Given the description of an element on the screen output the (x, y) to click on. 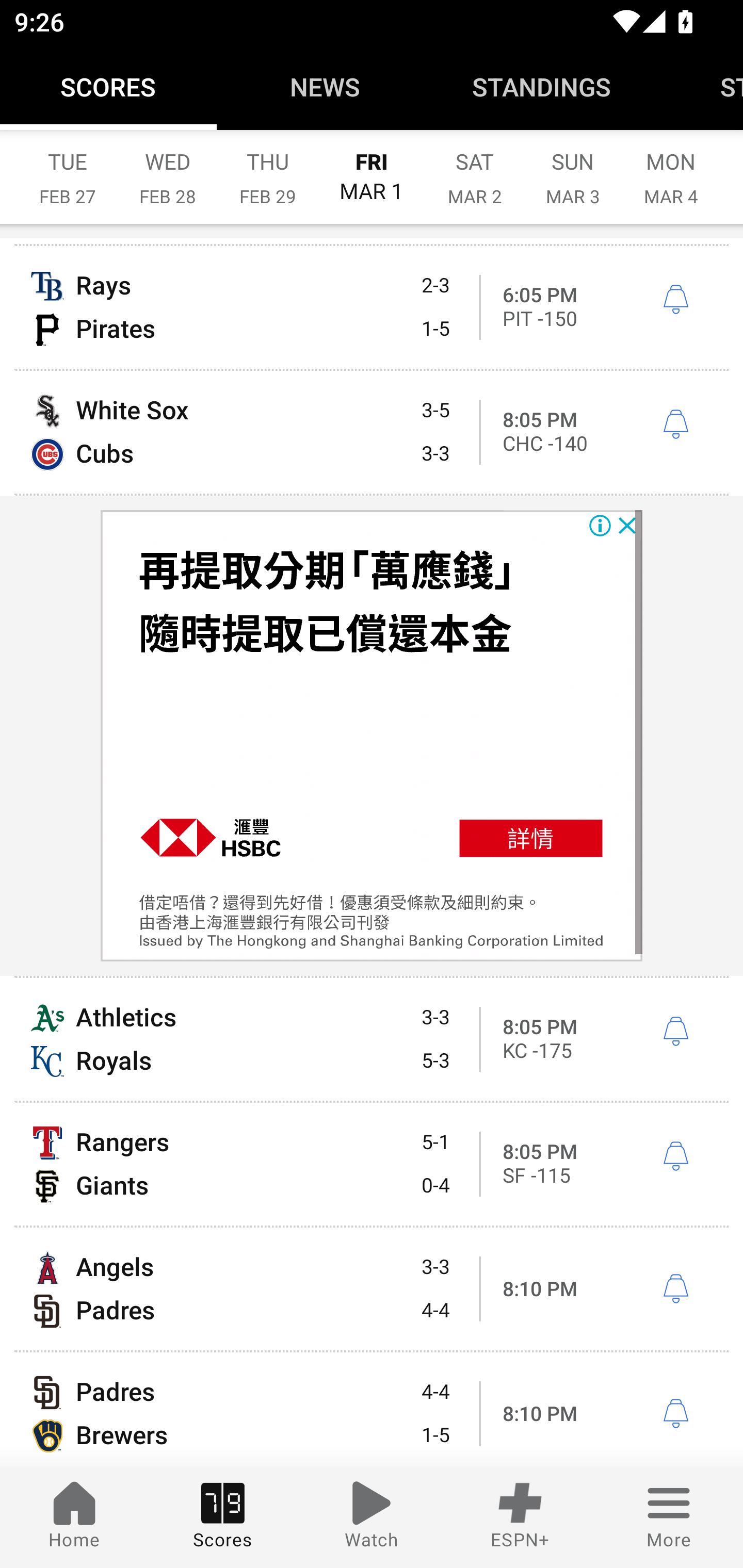
News NEWS (324, 86)
Standings STANDINGS (541, 86)
TUE FEB 27 (67, 167)
WED FEB 28 (167, 167)
THU FEB 29 (267, 167)
FRI MAR 1 (371, 167)
SAT MAR 2 (474, 167)
SUN MAR 3 (572, 167)
MON MAR 4 (670, 167)
Rays 2-3 Pirates 1-5 6:05 PM PIT -150 í (371, 307)
í (675, 299)
White Sox 3-5 Cubs 3-3 8:05 PM CHC -140 í (371, 432)
í (675, 424)
300x250 (371, 735)
Athletics 3-3 Royals 5-3 8:05 PM KC -175 í (371, 1039)
í (675, 1031)
Rangers 5-1 Giants 0-4 8:05 PM SF -115 í (371, 1164)
í (675, 1155)
Angels 3-3 Padres 4-4 8:10 PM í (371, 1288)
í (675, 1289)
Padres 4-4 Brewers 1-5 8:10 PM í (371, 1409)
í (675, 1413)
Home (74, 1517)
Watch (371, 1517)
ESPN+ (519, 1517)
More (668, 1517)
